Given the description of an element on the screen output the (x, y) to click on. 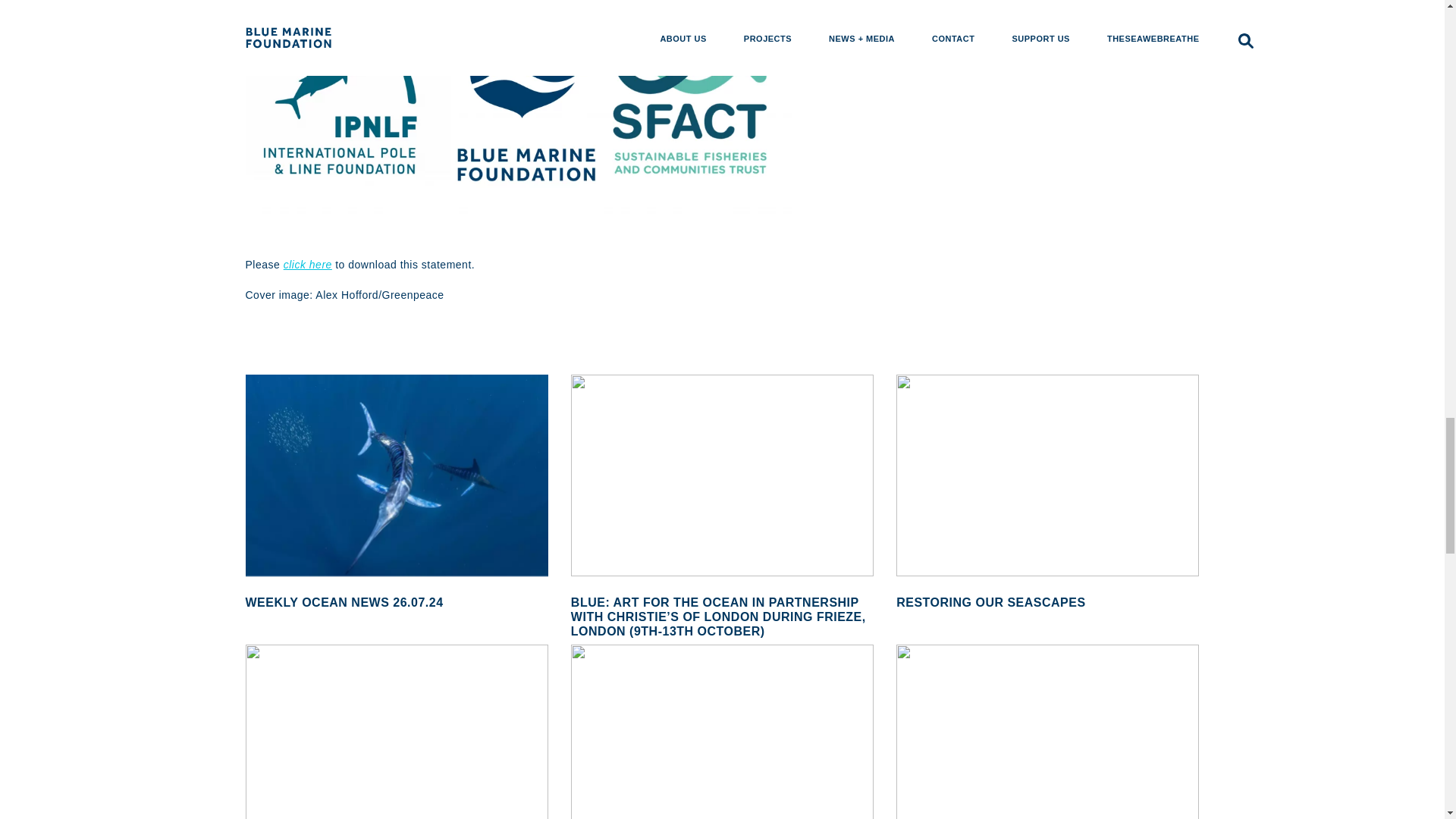
click here (307, 264)
